Given the description of an element on the screen output the (x, y) to click on. 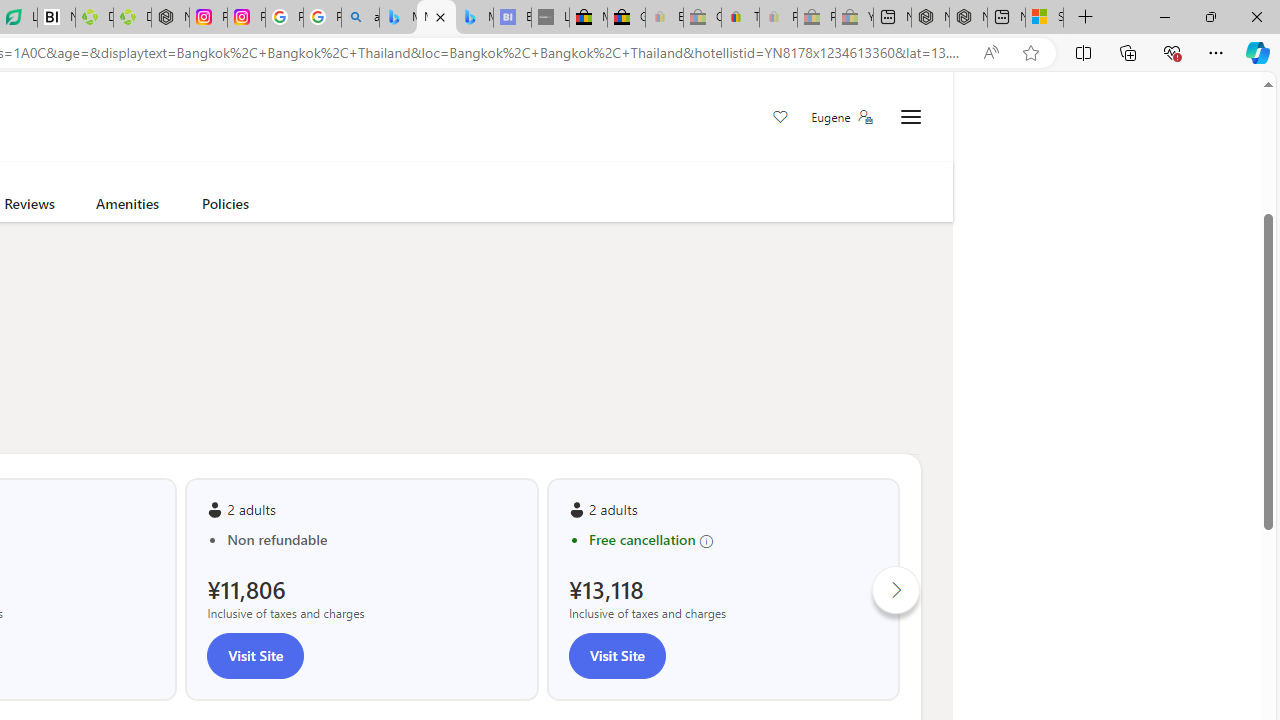
Threats and offensive language policy | eBay (740, 17)
Click to scroll right (896, 589)
Microsoft Bing Travel - Flights from Hong Kong to Bangkok (398, 17)
